Given the description of an element on the screen output the (x, y) to click on. 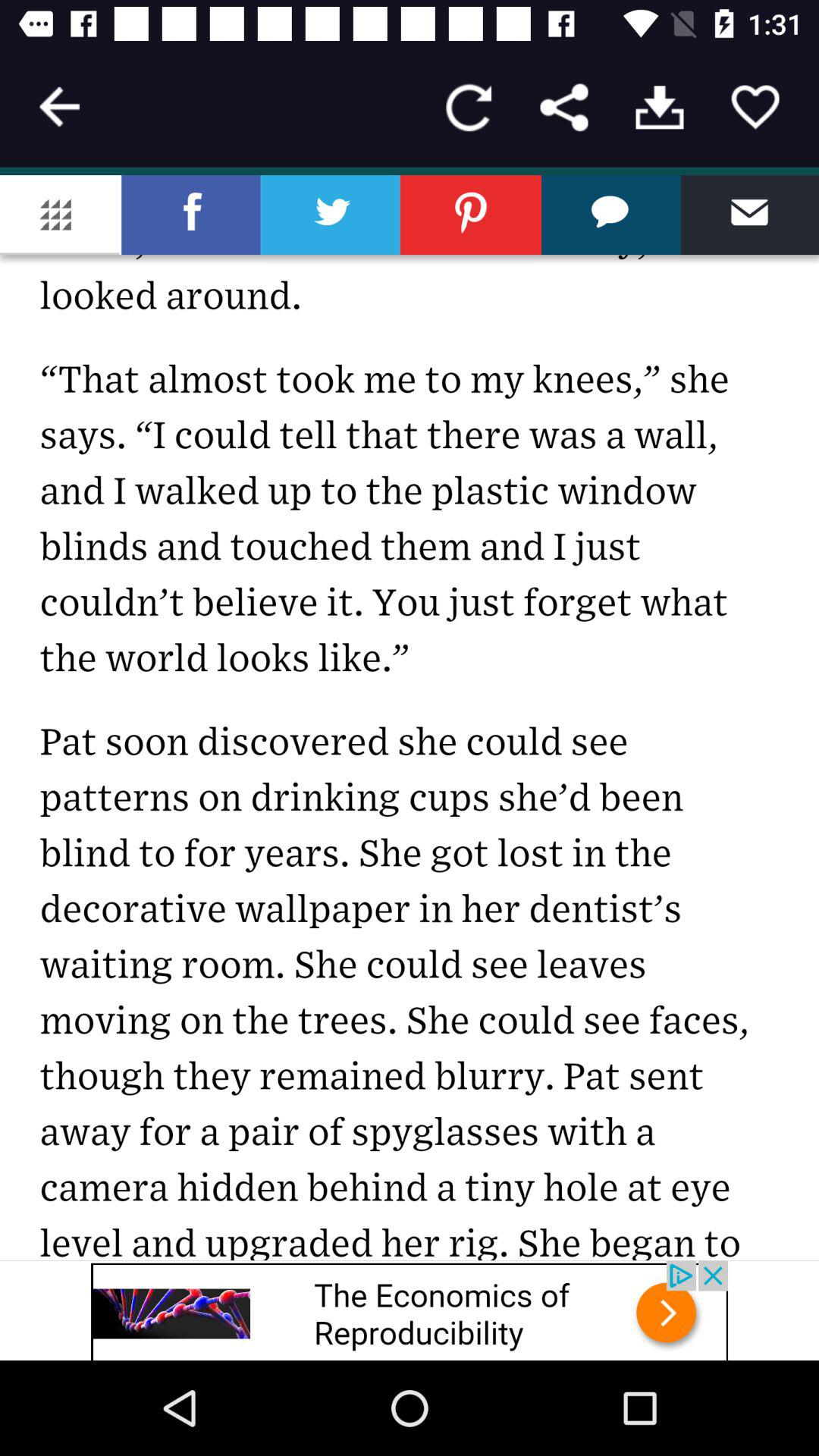
reload page (468, 107)
